Given the description of an element on the screen output the (x, y) to click on. 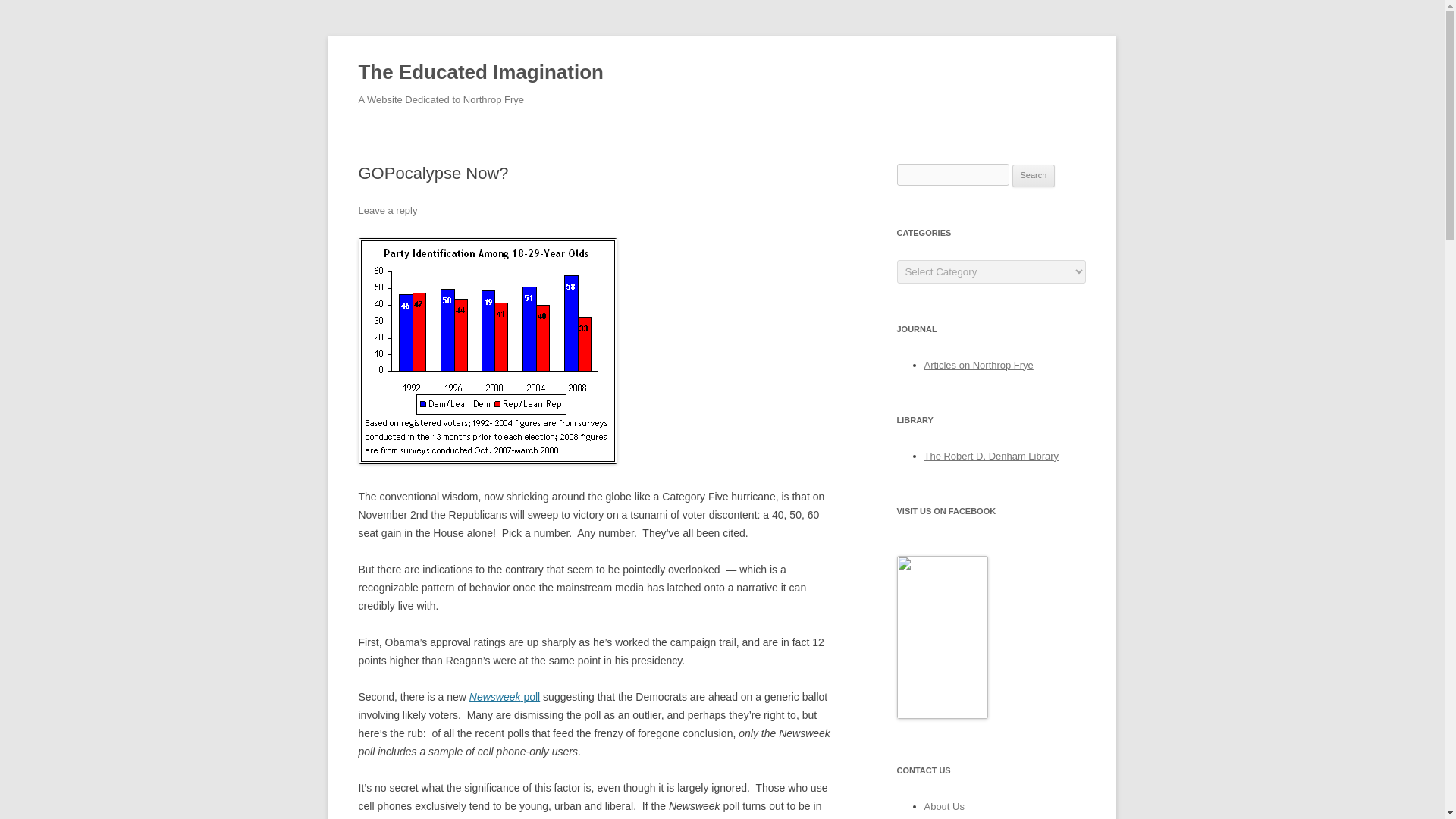
The Educated Imagination (480, 72)
Search (1033, 175)
About Us (943, 806)
Newsweek poll (504, 696)
Search (1033, 175)
Northrop Frye Blog (941, 715)
The Robert D. Denham Library (990, 455)
Articles on Northrop Frye (977, 365)
Leave a reply (387, 210)
